Given the description of an element on the screen output the (x, y) to click on. 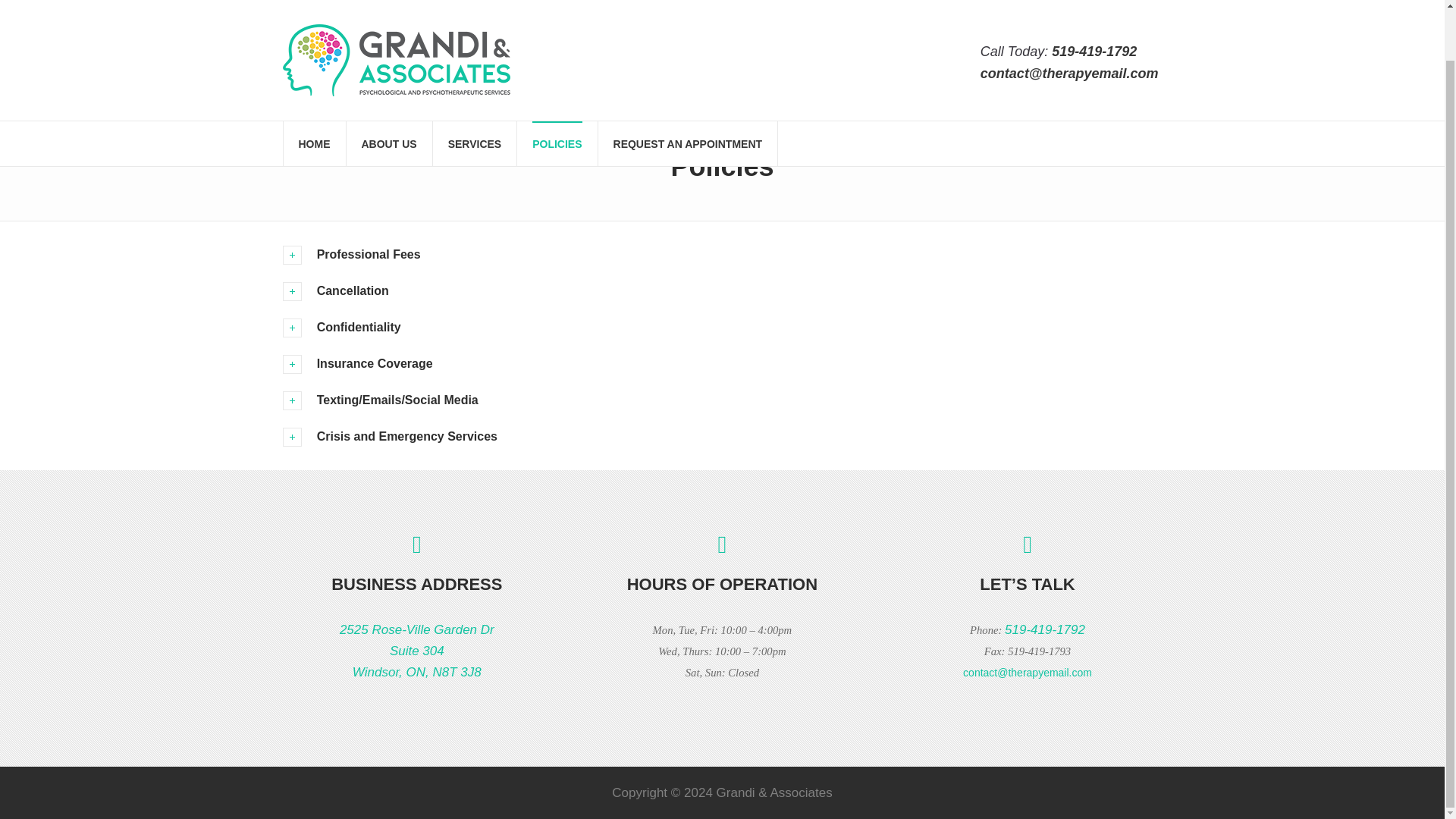
POLICIES (556, 89)
Crisis and Emergency Services (721, 436)
519-419-1792 (1094, 2)
ABOUT US (388, 89)
Professional Fees (721, 254)
REQUEST AN APPOINTMENT (687, 89)
Insurance Coverage (721, 363)
SERVICES (417, 650)
HOME (474, 89)
519-419-1792 (314, 89)
Cancellation (1044, 629)
Confidentiality (721, 290)
